Given the description of an element on the screen output the (x, y) to click on. 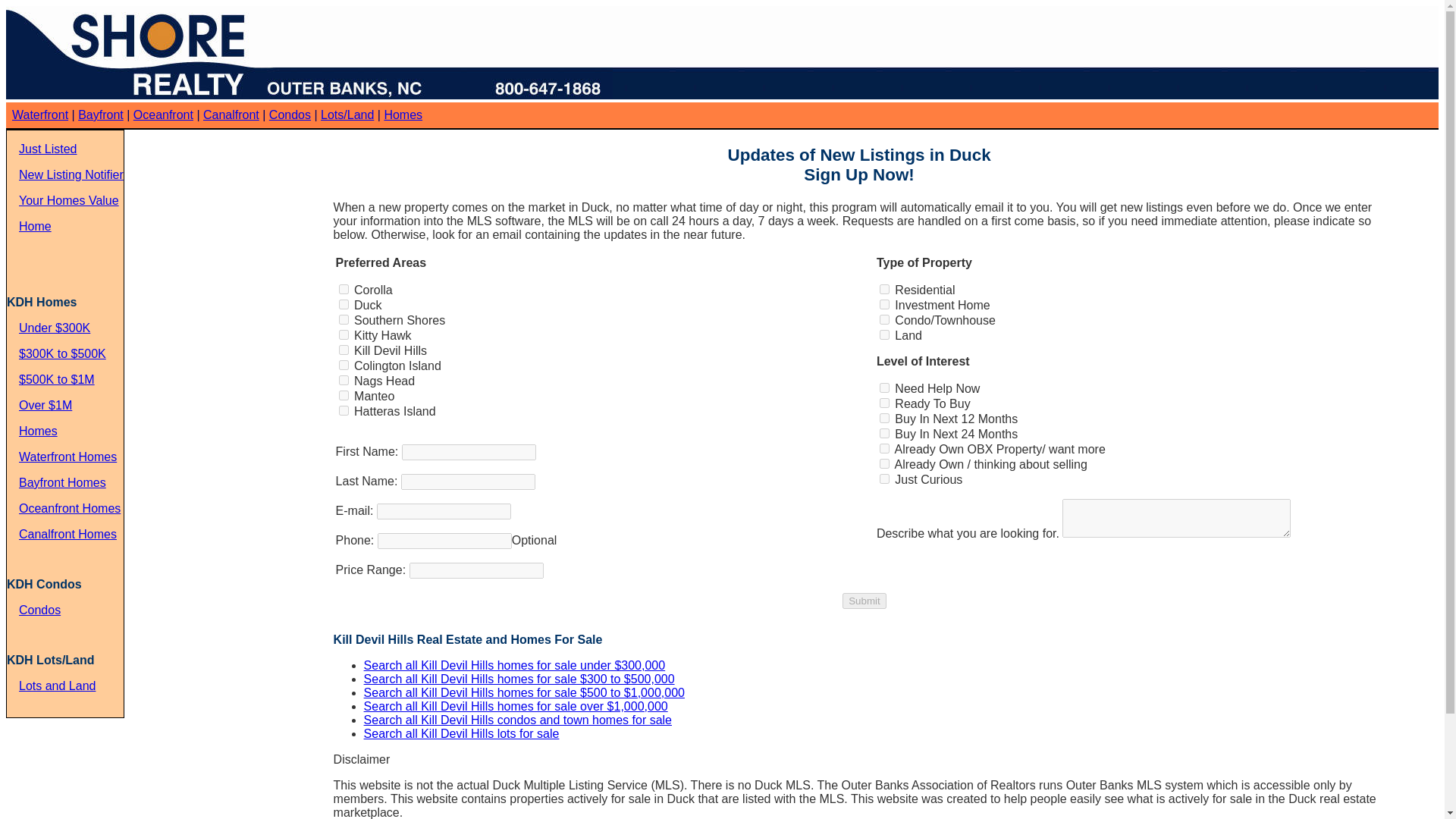
yes (344, 289)
yes (884, 319)
Kill Devil Hills waterfront homes  (39, 114)
yes (344, 395)
Search all Kill Devil Hills lots for sale (461, 733)
yes (344, 365)
Your Homes Value (68, 200)
Lots and Land (57, 685)
yes (884, 334)
Canalfront (231, 114)
yes (344, 379)
Waterfront (39, 114)
Search all Kill Devil Hills condos and town homes for sale (517, 719)
Search all Kill Devil Hills condos and town homes for sale (517, 719)
Condos (39, 609)
